Given the description of an element on the screen output the (x, y) to click on. 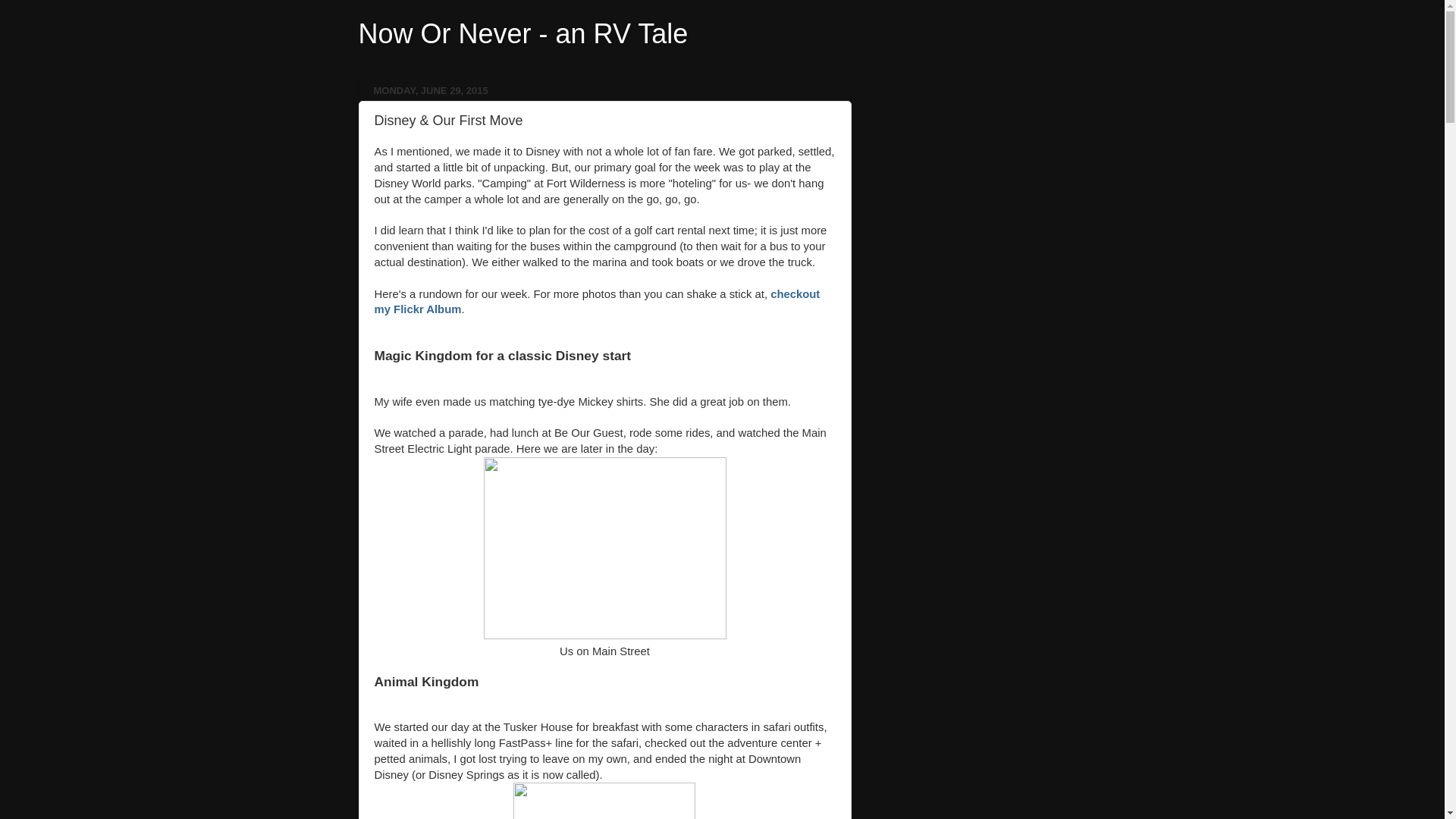
checkout my Flickr Album (597, 302)
Now Or Never - an RV Tale (522, 33)
